Given the description of an element on the screen output the (x, y) to click on. 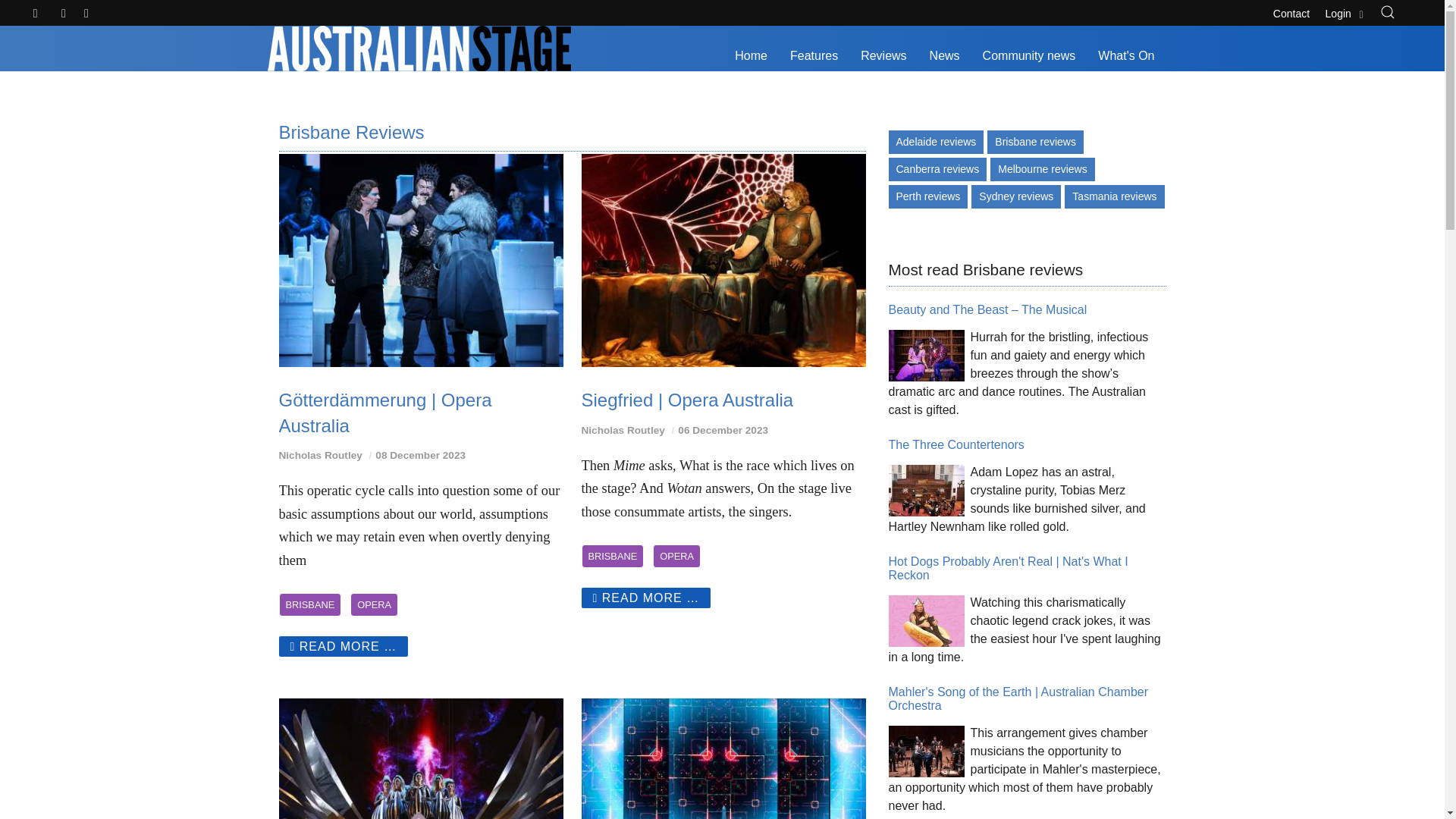
News (944, 55)
Twitter (36, 13)
BRISBANE (611, 556)
Instagram (87, 13)
OPERA (373, 604)
Login (1345, 11)
Reviews (882, 55)
Contact (1290, 11)
BRISBANE (310, 604)
Facebook (64, 13)
What's On (1125, 55)
OPERA (676, 556)
Community news (1028, 55)
Home (751, 55)
Features (814, 55)
